Given the description of an element on the screen output the (x, y) to click on. 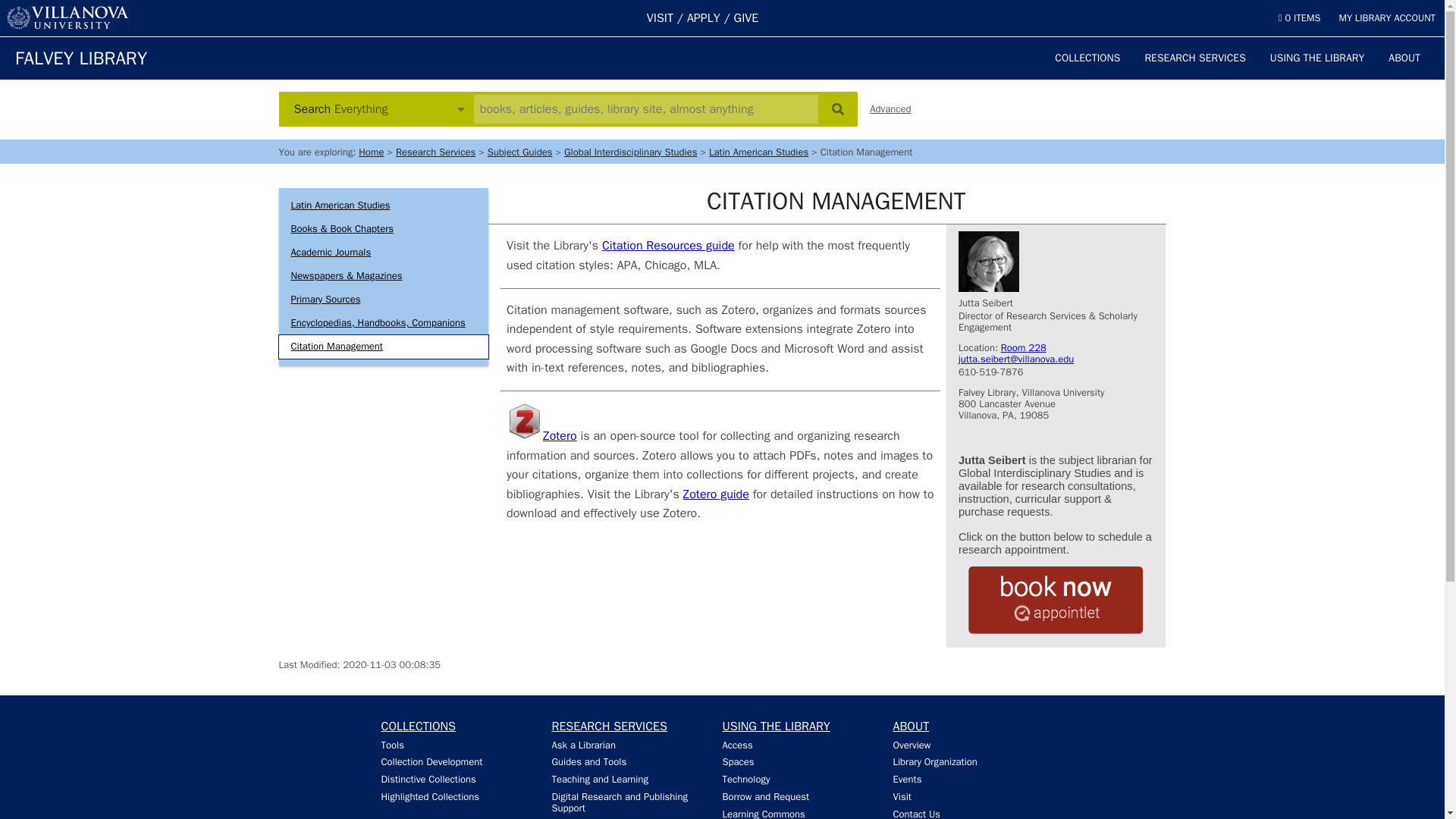
FALVEY LIBRARY (80, 57)
APPLY (703, 17)
COLLECTIONS (1087, 57)
RESEARCH SERVICES (1194, 57)
GIVE (745, 17)
0 ITEMS (1299, 18)
VISIT (659, 17)
